Given the description of an element on the screen output the (x, y) to click on. 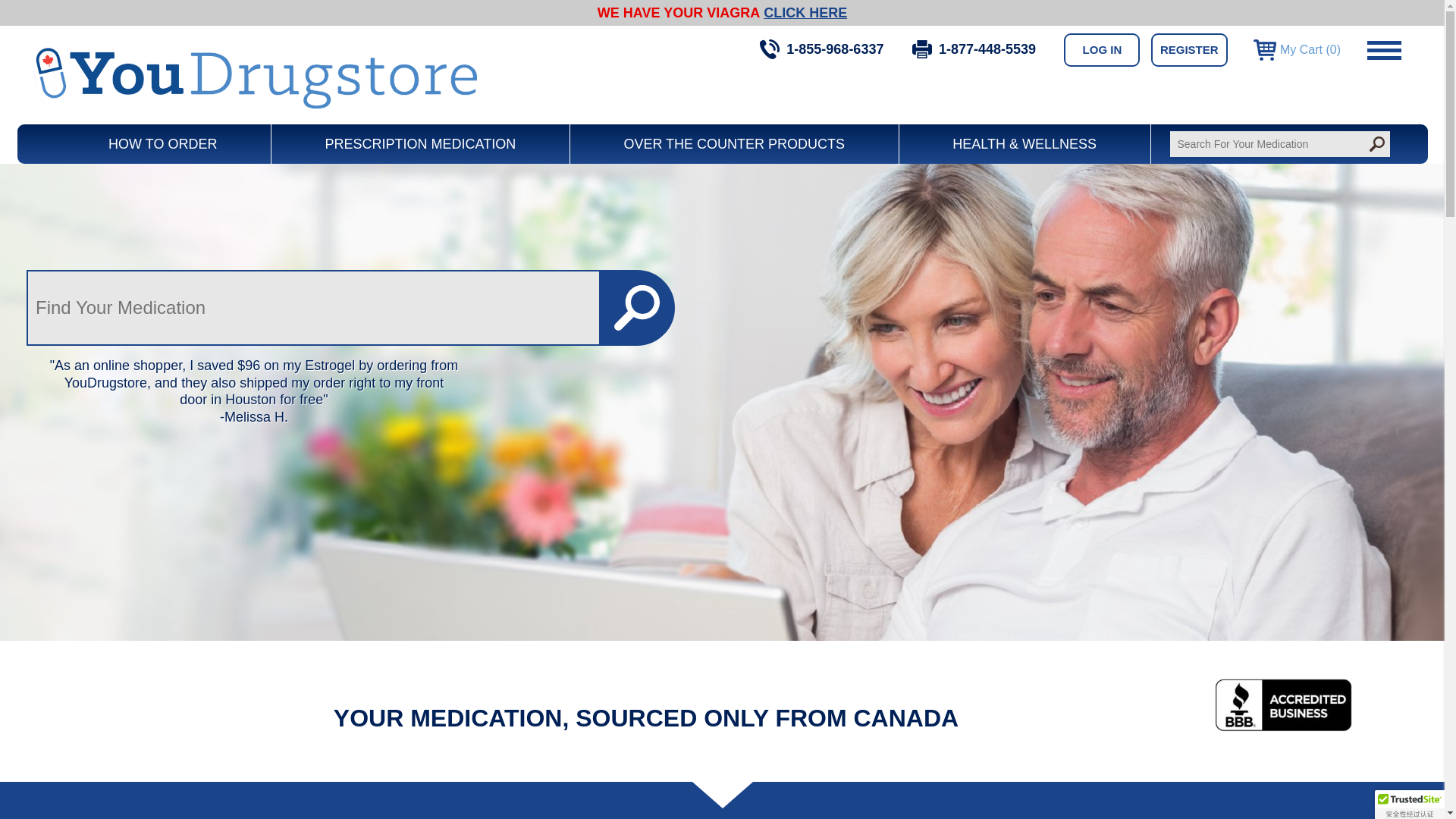
REGISTER (1189, 49)
Toggle Slide Menu (1382, 51)
Search (1375, 144)
Search (636, 307)
PRESCRIPTION MEDICATION (419, 143)
HOW TO ORDER (162, 143)
1-855-968-6337 (822, 48)
LOG IN (1102, 49)
OVER THE COUNTER PRODUCTS (734, 143)
WE HAVE YOUR VIAGRA CLICK HERE (721, 13)
